Given the description of an element on the screen output the (x, y) to click on. 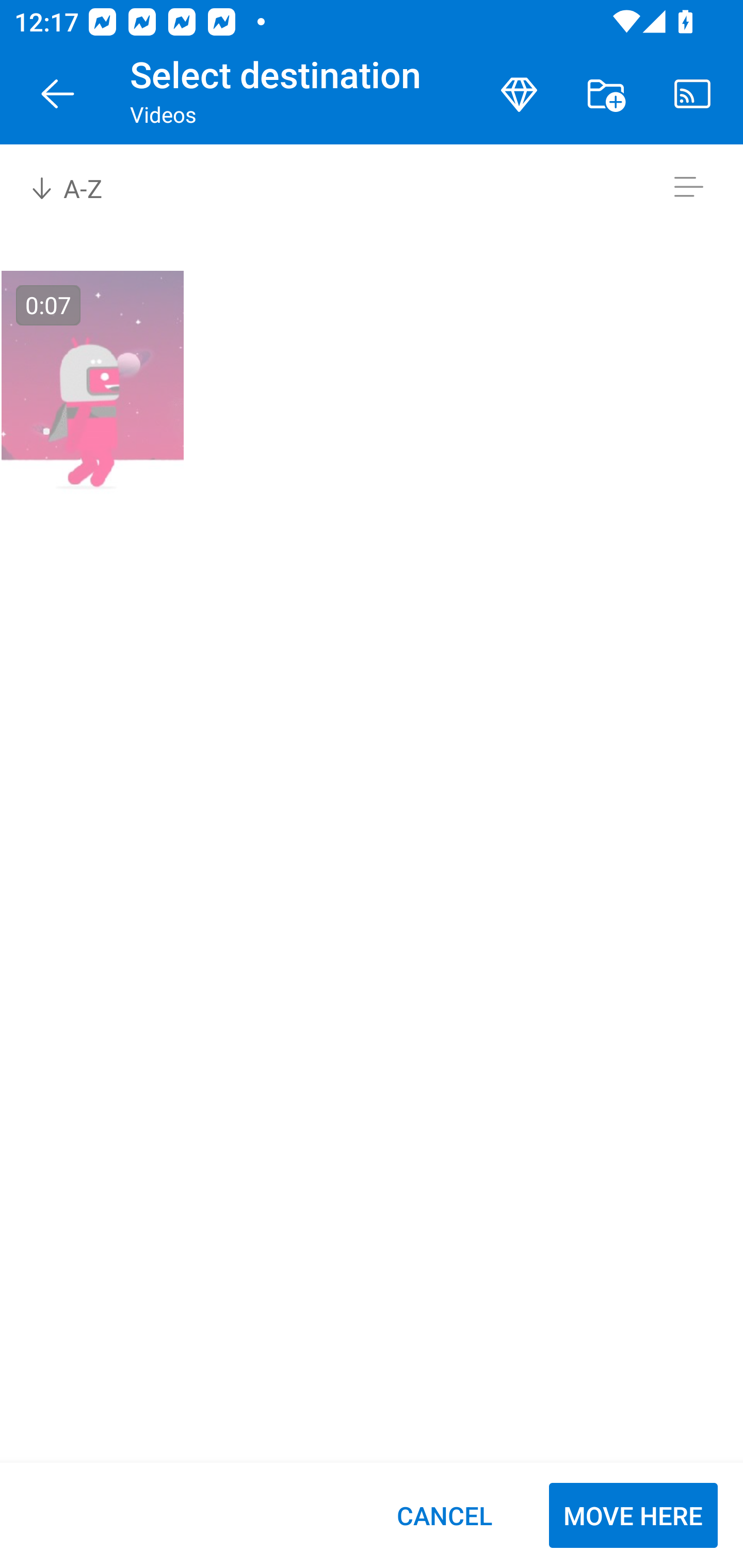
Navigate Up (57, 93)
Cast. Disconnected (692, 93)
Premium button (518, 93)
More actions button (605, 93)
A-Z Sort by combo box, sort by name, A to Z (80, 187)
Switch to list view (688, 187)
Document TestVideo 0:07 7 seconds (92, 395)
CANCEL (443, 1515)
MOVE HERE (633, 1515)
